Given the description of an element on the screen output the (x, y) to click on. 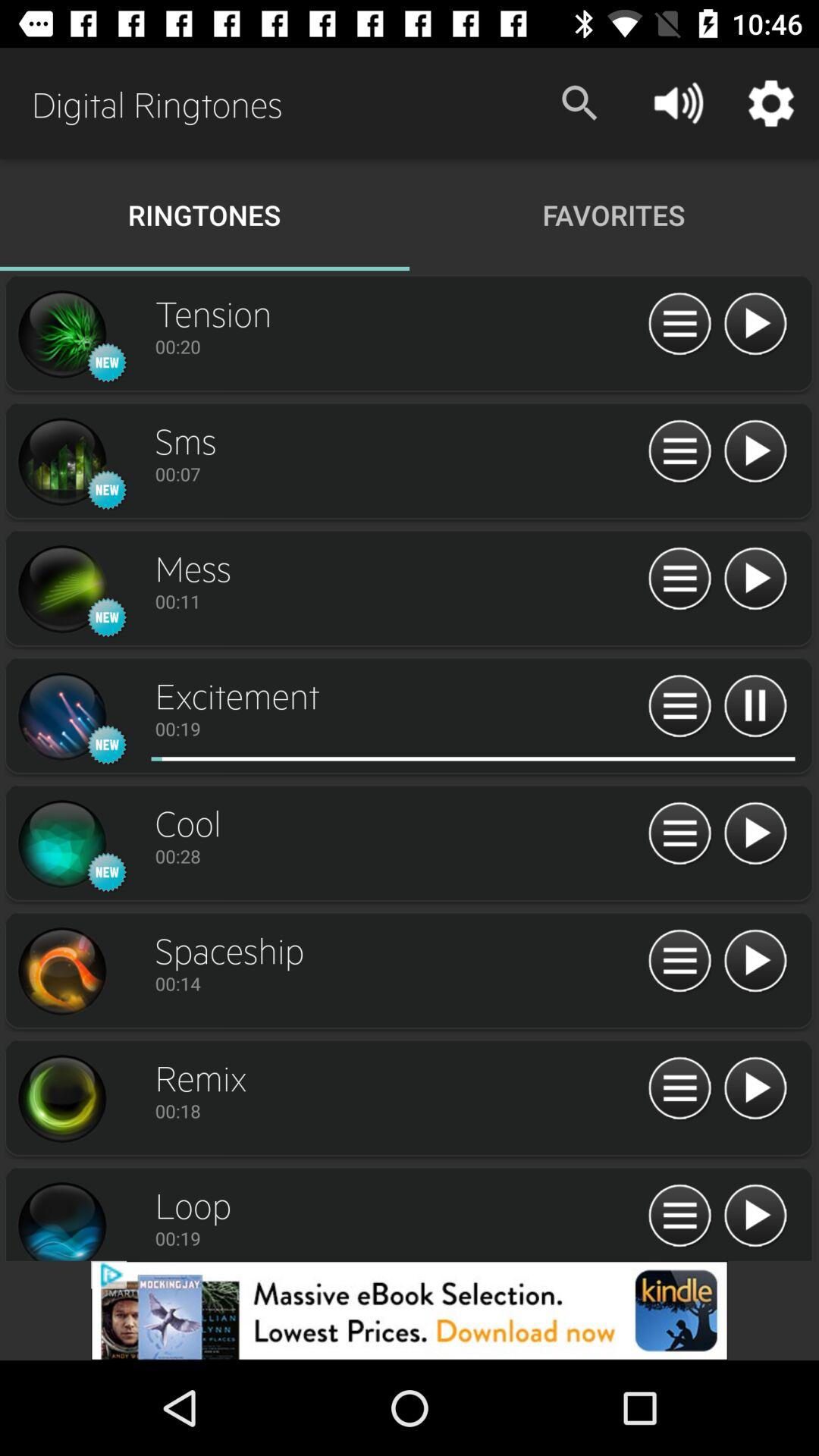
menu (679, 961)
